Given the description of an element on the screen output the (x, y) to click on. 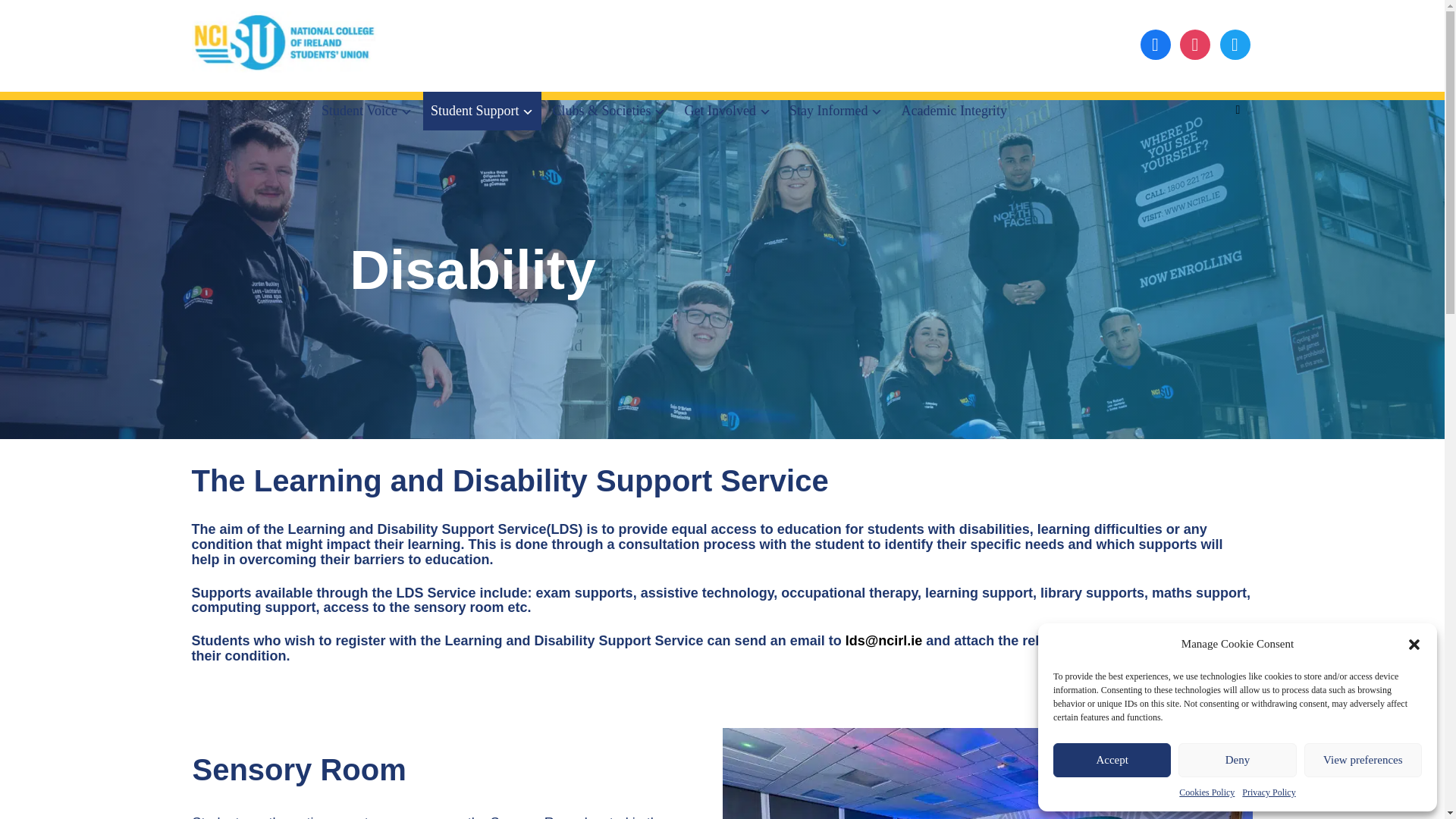
Instagram (1234, 42)
Privacy Policy (1268, 792)
Accept (1111, 759)
Twitter (1194, 42)
View preferences (1363, 759)
Deny (1236, 759)
Cookies Policy (1206, 792)
Facebook (1155, 42)
Search (1237, 110)
